Given the description of an element on the screen output the (x, y) to click on. 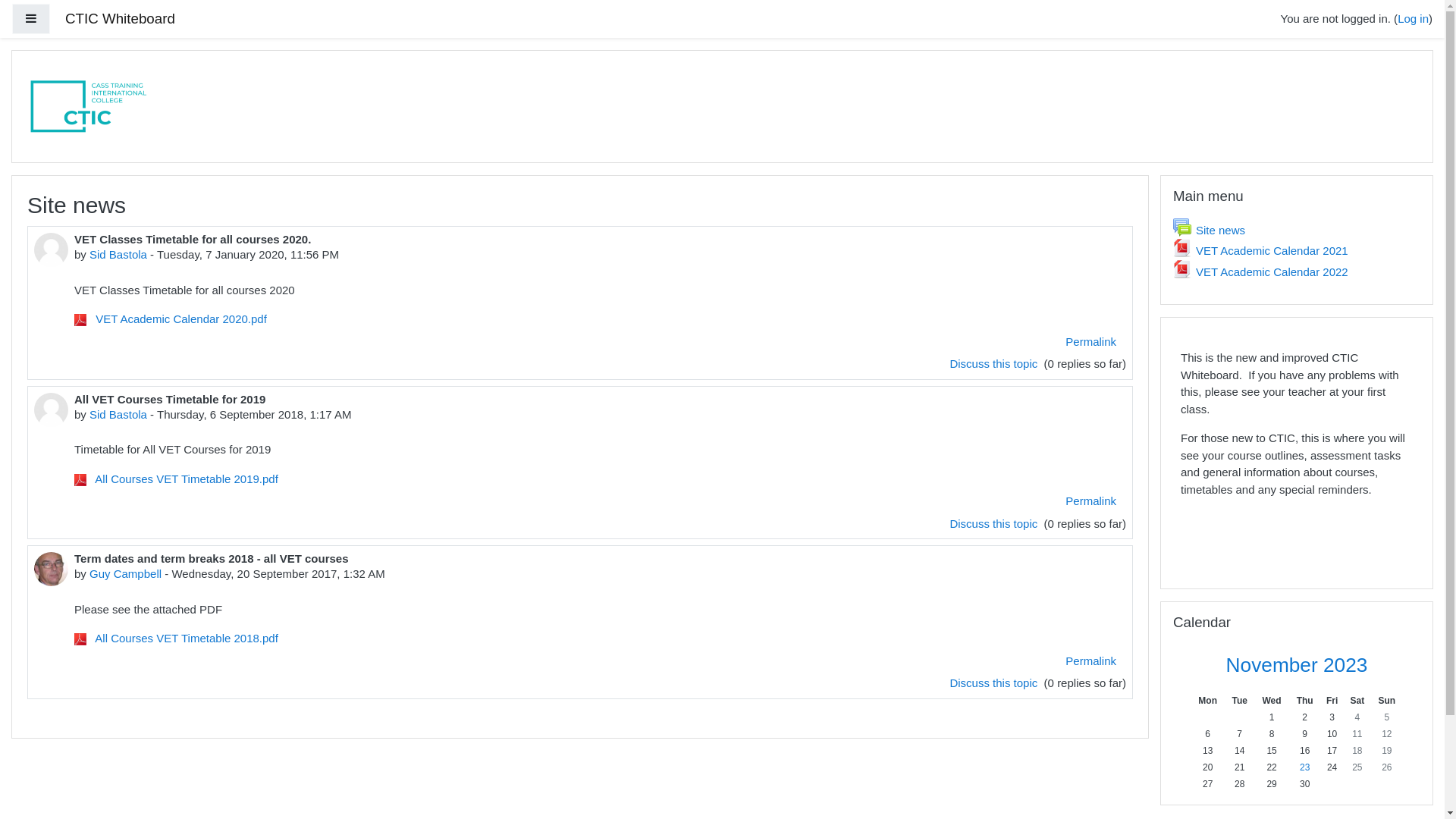
Site news
Forum Element type: text (1209, 228)
Permalink Element type: text (1090, 661)
Discuss this topic Element type: text (994, 363)
All Courses VET Timetable 2018.pdf Element type: text (176, 637)
Skip Calendar Element type: text (1159, 600)
VET Academic Calendar 2021
File Element type: text (1260, 250)
Permalink Element type: text (1090, 501)
November 2023 Element type: text (1297, 664)
Sid Bastola Element type: text (118, 253)
All Courses VET Timetable 2019.pdf Element type: text (176, 477)
VET Academic Calendar 2022
File Element type: text (1260, 271)
Log in Element type: text (1412, 18)
Guy Campbell Element type: text (125, 573)
Sid Bastola Element type: text (118, 413)
Permalink Element type: text (1090, 341)
CTIC Whiteboard Element type: text (120, 19)
Side panel Element type: text (31, 18)
VET Academic Calendar 2020.pdf Element type: text (170, 318)
Picture of Sid Bastola Element type: hover (51, 249)
Discuss this topic Element type: text (994, 523)
Picture of Sid Bastola Element type: hover (51, 409)
Picture of Guy Campbell Element type: hover (51, 569)
Discuss this topic Element type: text (994, 682)
23 Element type: text (1304, 767)
Skip Main menu Element type: text (1159, 174)
